Given the description of an element on the screen output the (x, y) to click on. 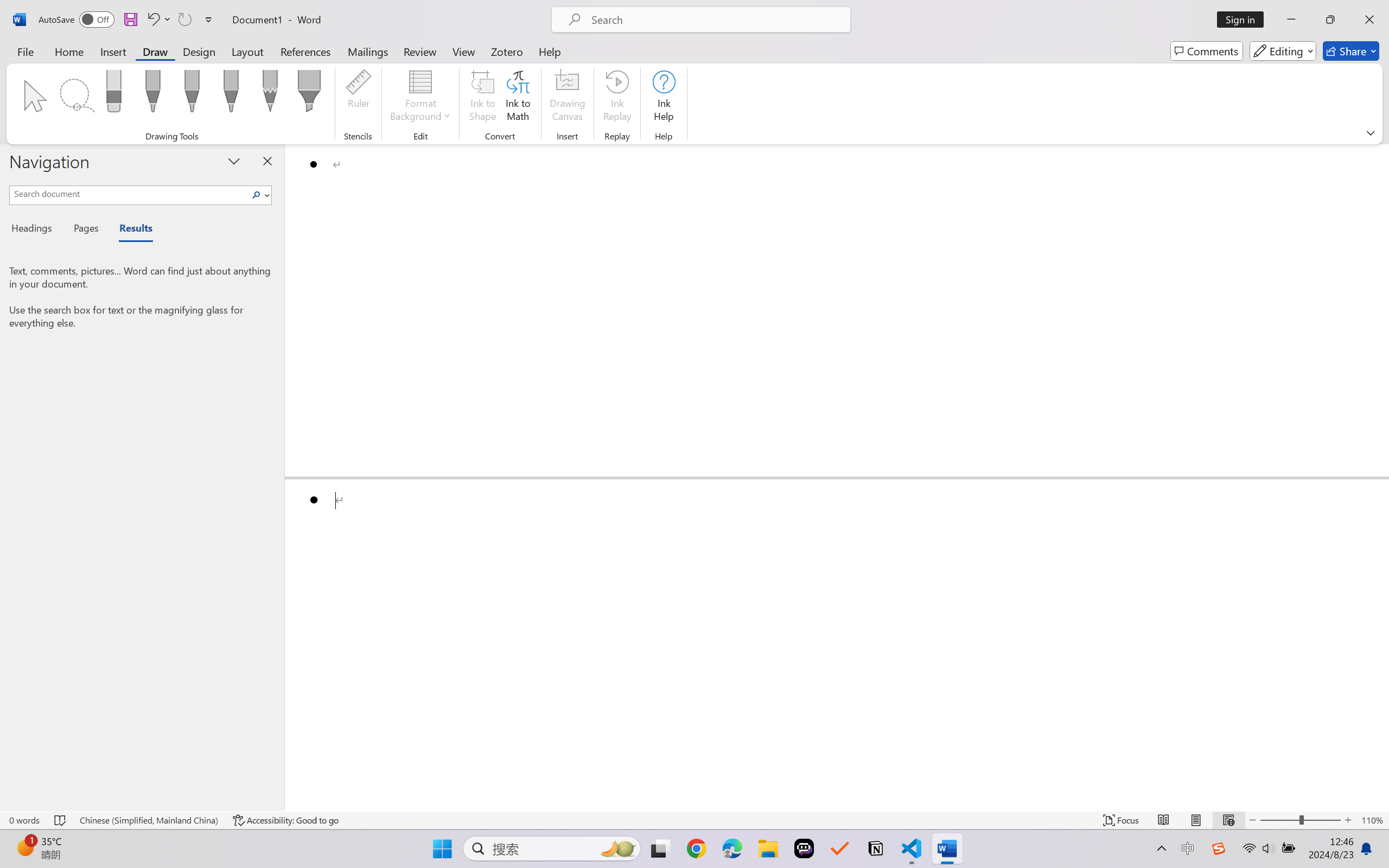
Search document (128, 193)
Ink Help (663, 97)
